Given the description of an element on the screen output the (x, y) to click on. 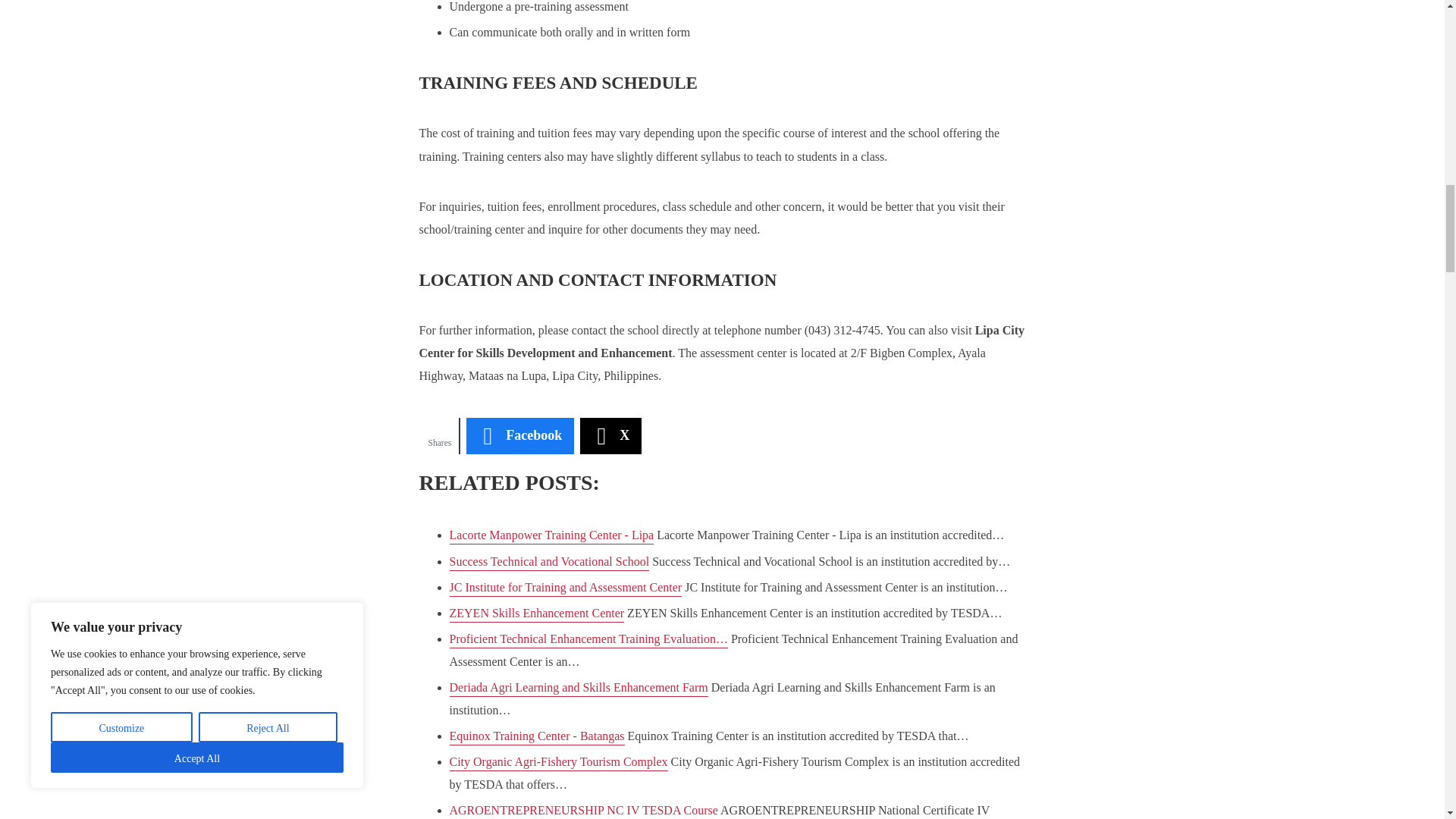
X (610, 435)
Facebook (519, 435)
Deriada Agri Learning and Skills Enhancement Farm (577, 688)
Share this article on X (610, 435)
Lacorte Manpower Training Center - Lipa (550, 536)
Share this article on Facebook (519, 435)
Success Technical and Vocational School (548, 562)
Total:  (439, 435)
Advertisement (897, 52)
JC Institute for Training and Assessment Center (564, 588)
